Given the description of an element on the screen output the (x, y) to click on. 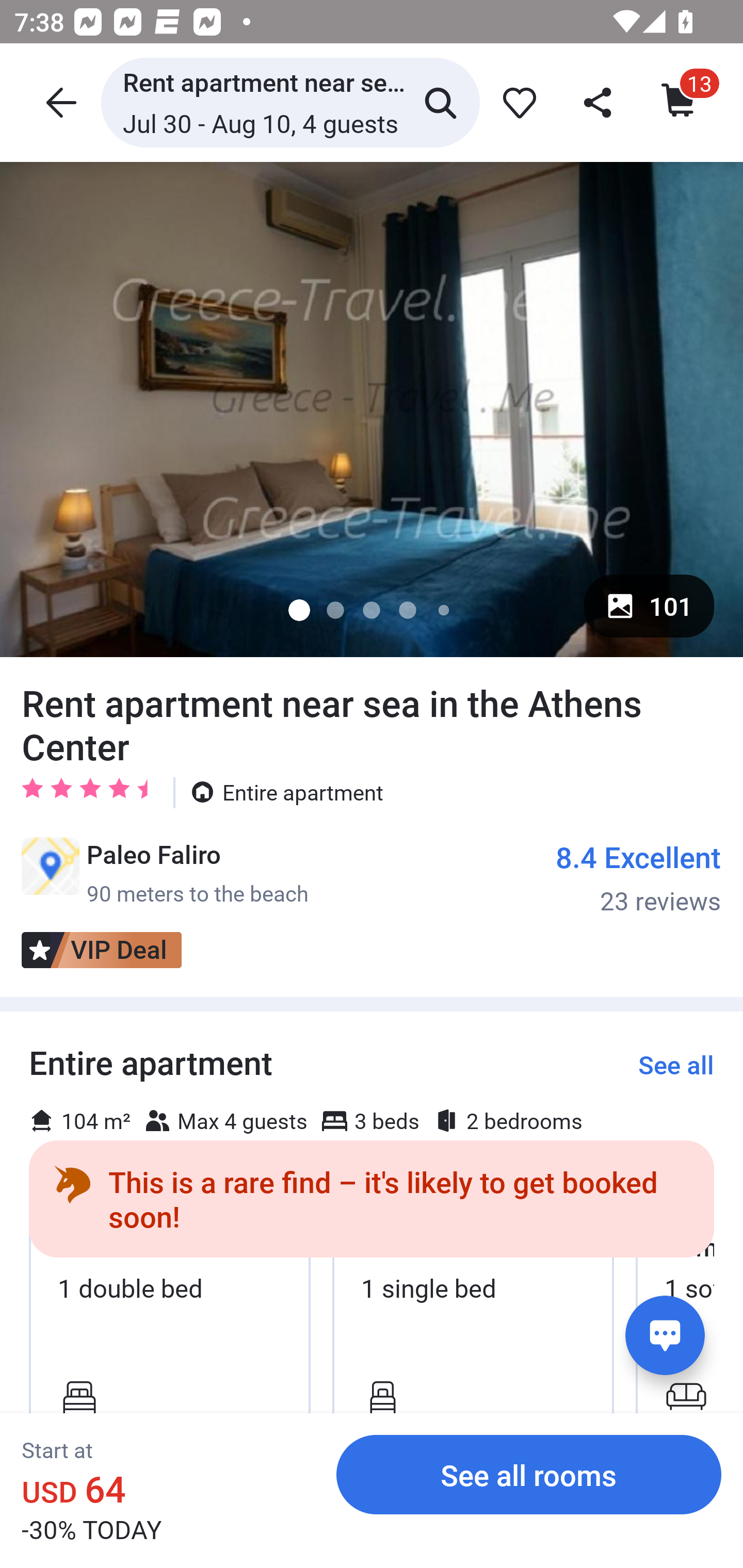
header icon (59, 102)
favorite_icon 0dbe6efb (515, 102)
share_header_icon (598, 102)
Cart icon cart_item_count 13 (679, 102)
image (371, 408)
101 (648, 605)
Paleo Faliro 90 meters to the beach (164, 872)
8.4 Excellent 23 reviews (638, 877)
See all (676, 1064)
See all rooms (528, 1474)
